Given the description of an element on the screen output the (x, y) to click on. 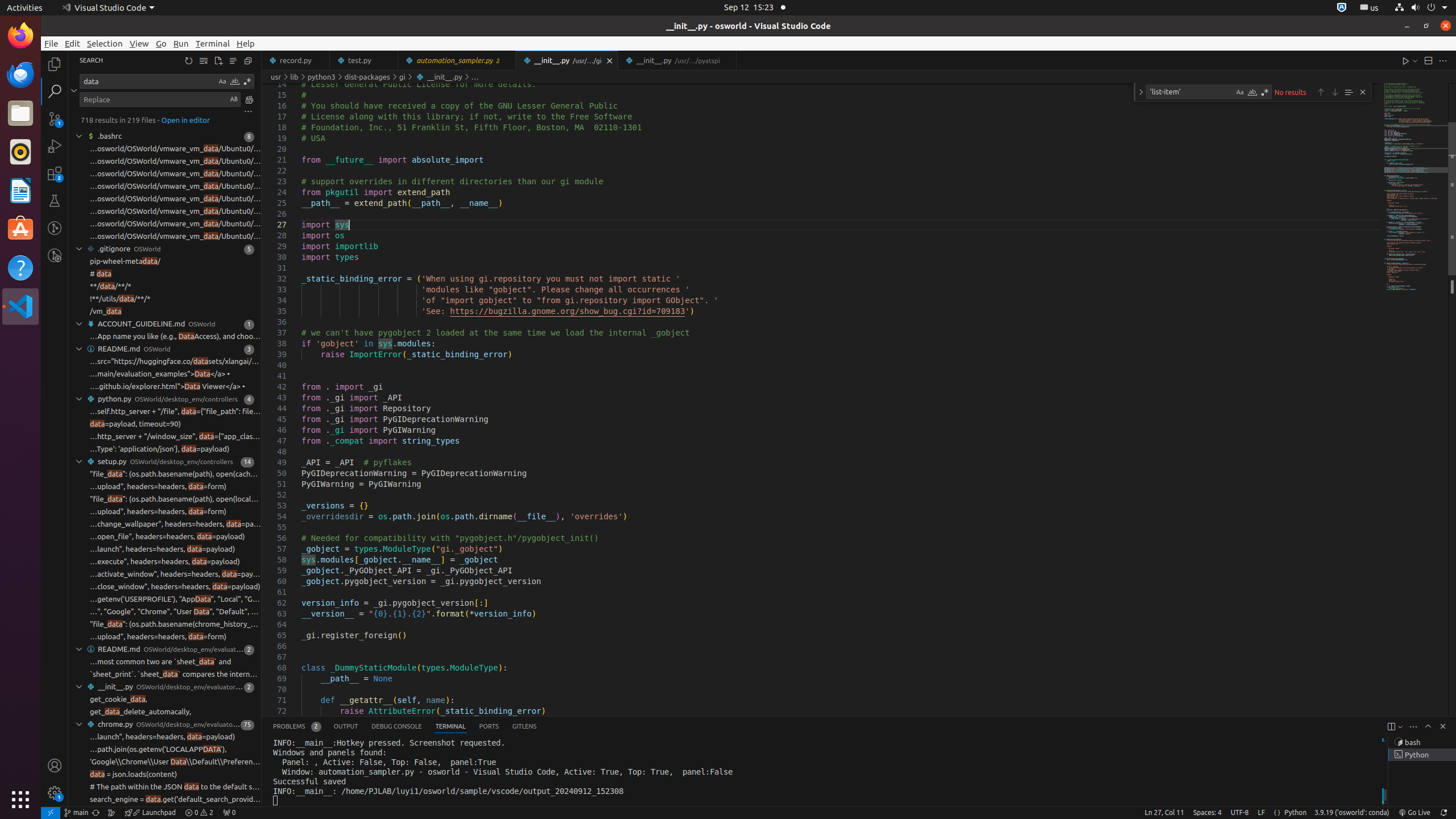
Terminal Element type: push-button (212, 43)
Python Element type: push-button (1295, 812)
' preference_file_path = env.controller.execute_python_command("""import os; print(os.path.join(os.getenv('LOCALAPPDATA'),' at column 122 found DATA Element type: tree-item (164, 748)
'2. For App information, type in any App name you like (e.g., DataAccess), and choose the current Google gmail into field `User support email`.' at column 62 found Data Element type: tree-item (164, 335)
…activate_window", headers=headers, data=payload) Element type: link (175, 573)
